Given the description of an element on the screen output the (x, y) to click on. 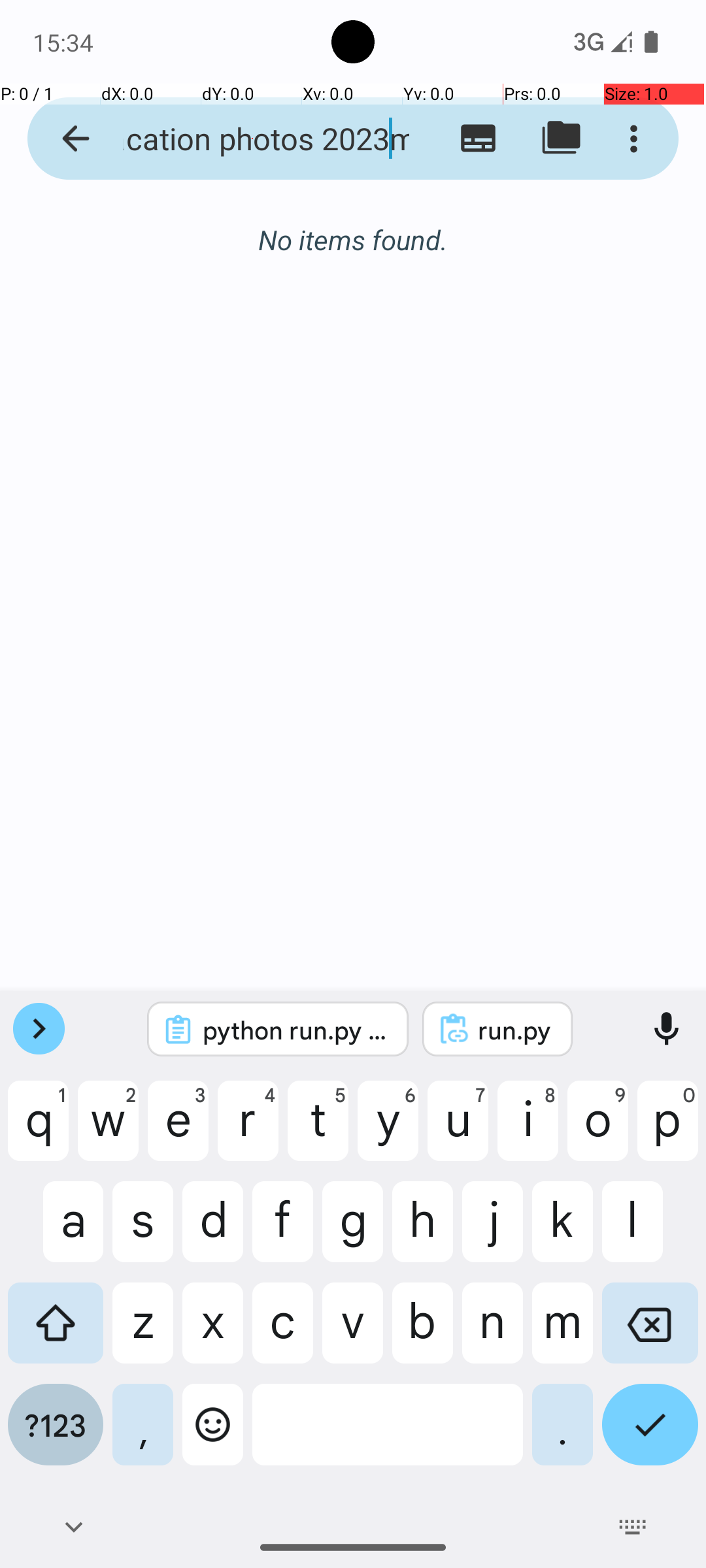
vacation psummer trip beach vacation photos 2023memorieshotos 2023 Element type: android.widget.EditText (252, 138)
Switch to folder view Element type: android.widget.Button (560, 138)
python run.py \   --suite_family=android_world \   --agent_name=t3a_gpt4 \   --perform_emulator_setup \   --tasks=ContactsAddContact,ClockStopWatchRunning \  # Optional: Just run on a subset. Element type: android.widget.TextView (294, 1029)
run.py Element type: android.widget.TextView (514, 1029)
